Given the description of an element on the screen output the (x, y) to click on. 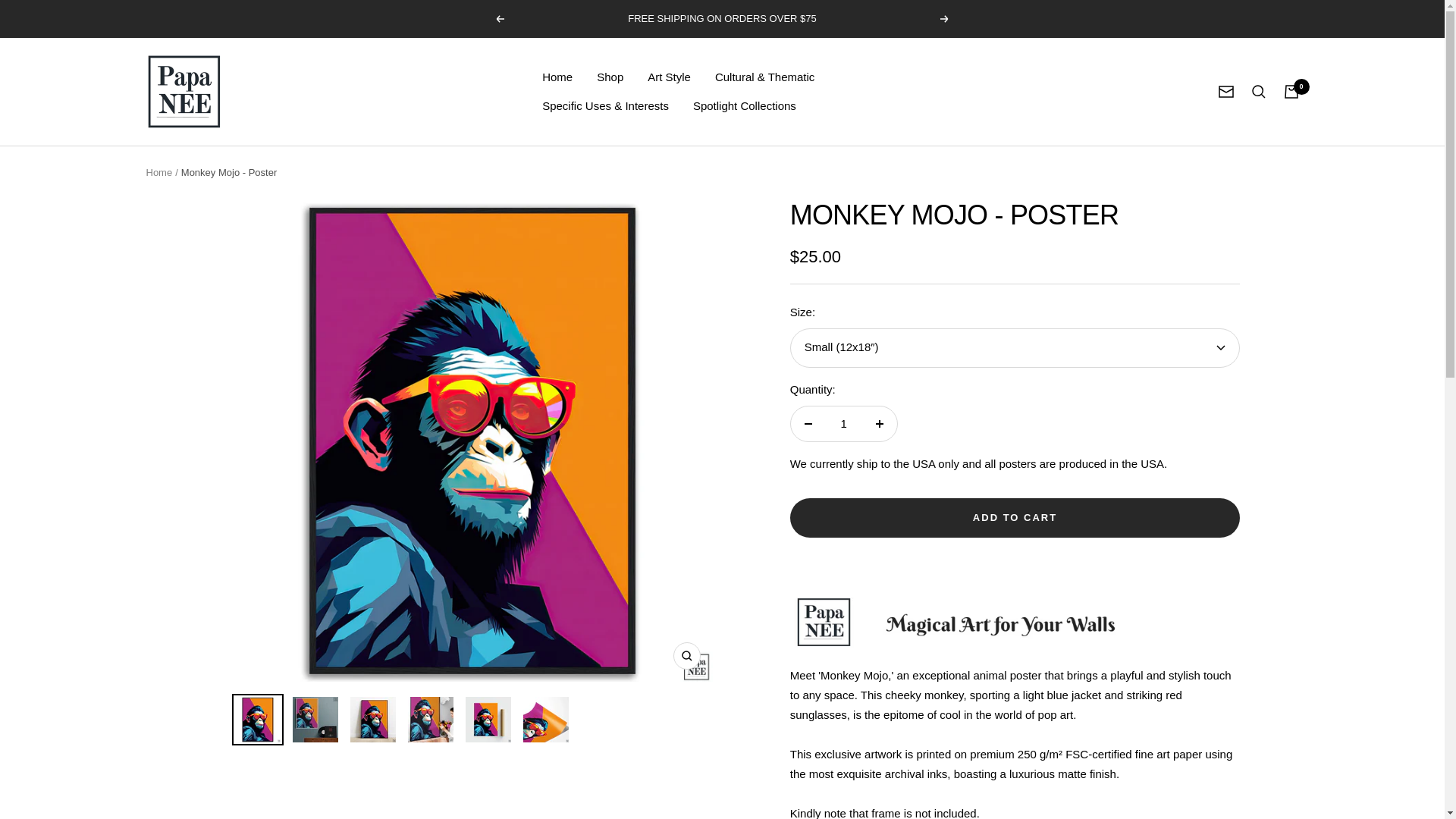
Home (158, 172)
Decrease quantity (807, 423)
Previous (499, 18)
0 (1291, 91)
Spotlight Collections (744, 106)
1 (843, 423)
Home (556, 76)
Papanee (183, 91)
Art Style (668, 76)
Newsletter (1225, 91)
